Given the description of an element on the screen output the (x, y) to click on. 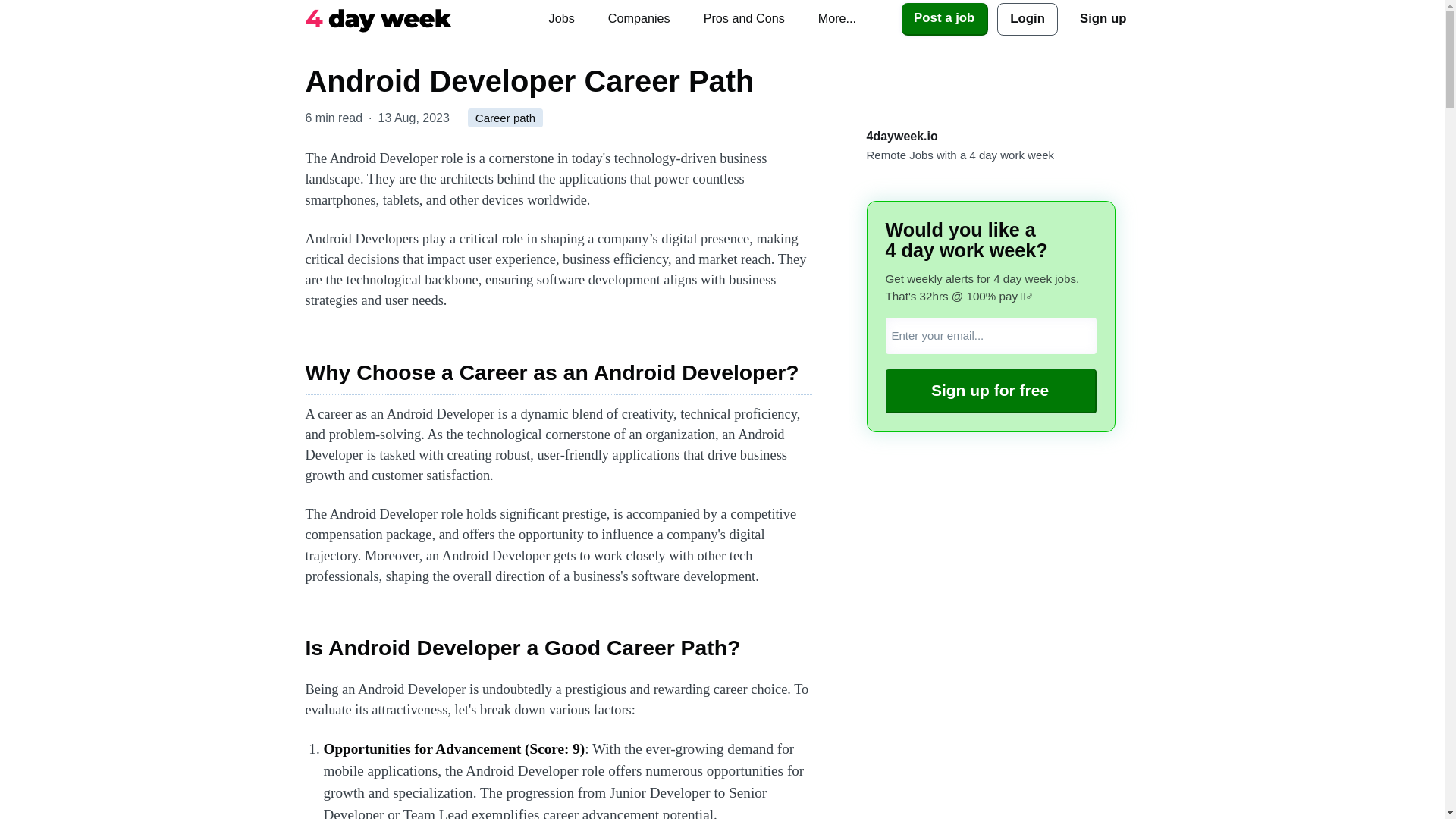
More... (836, 18)
Companies (638, 18)
Jobs (561, 18)
Pros and Cons (743, 18)
